Given the description of an element on the screen output the (x, y) to click on. 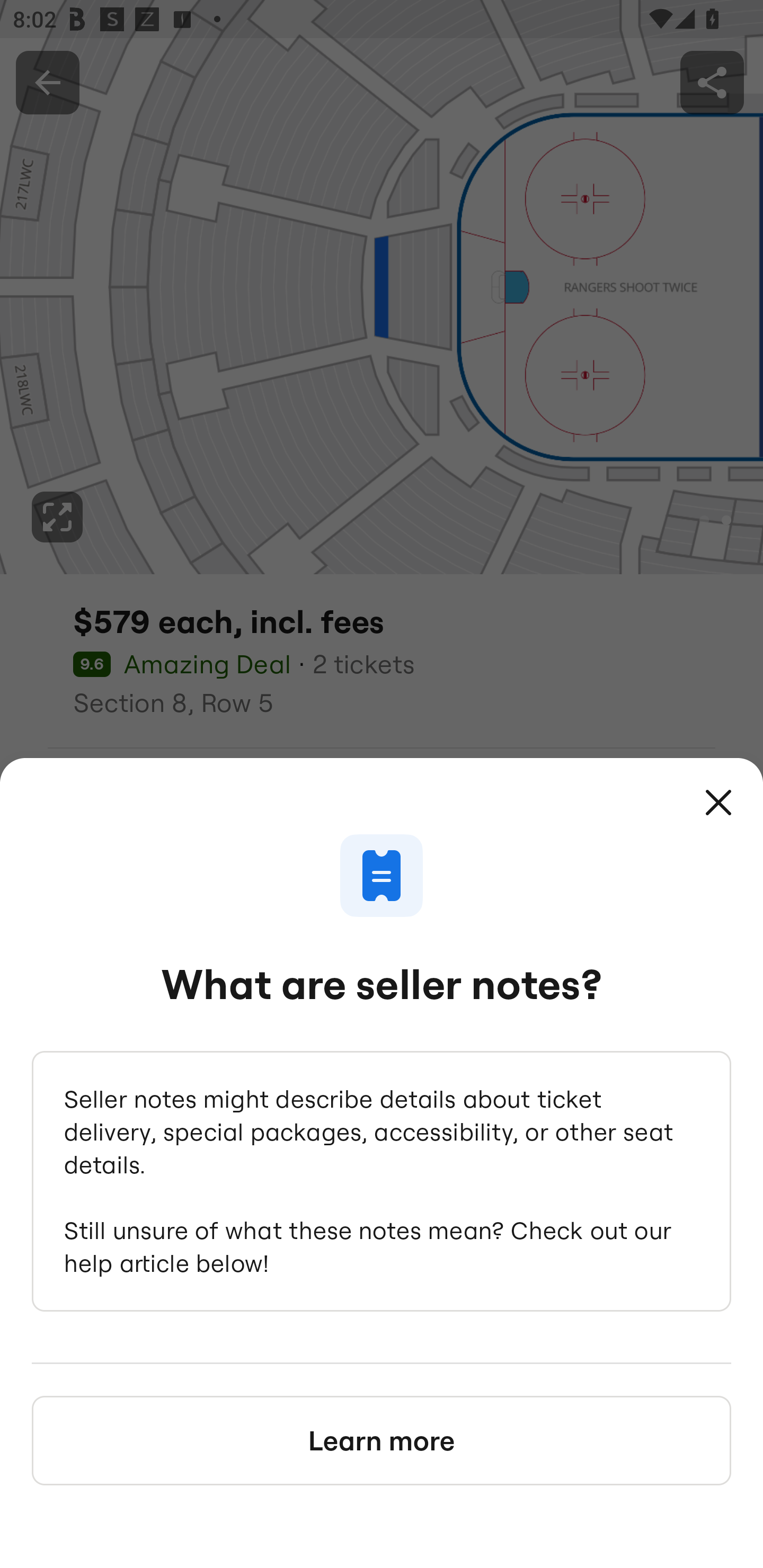
Close (718, 802)
Learn more (381, 1439)
